Given the description of an element on the screen output the (x, y) to click on. 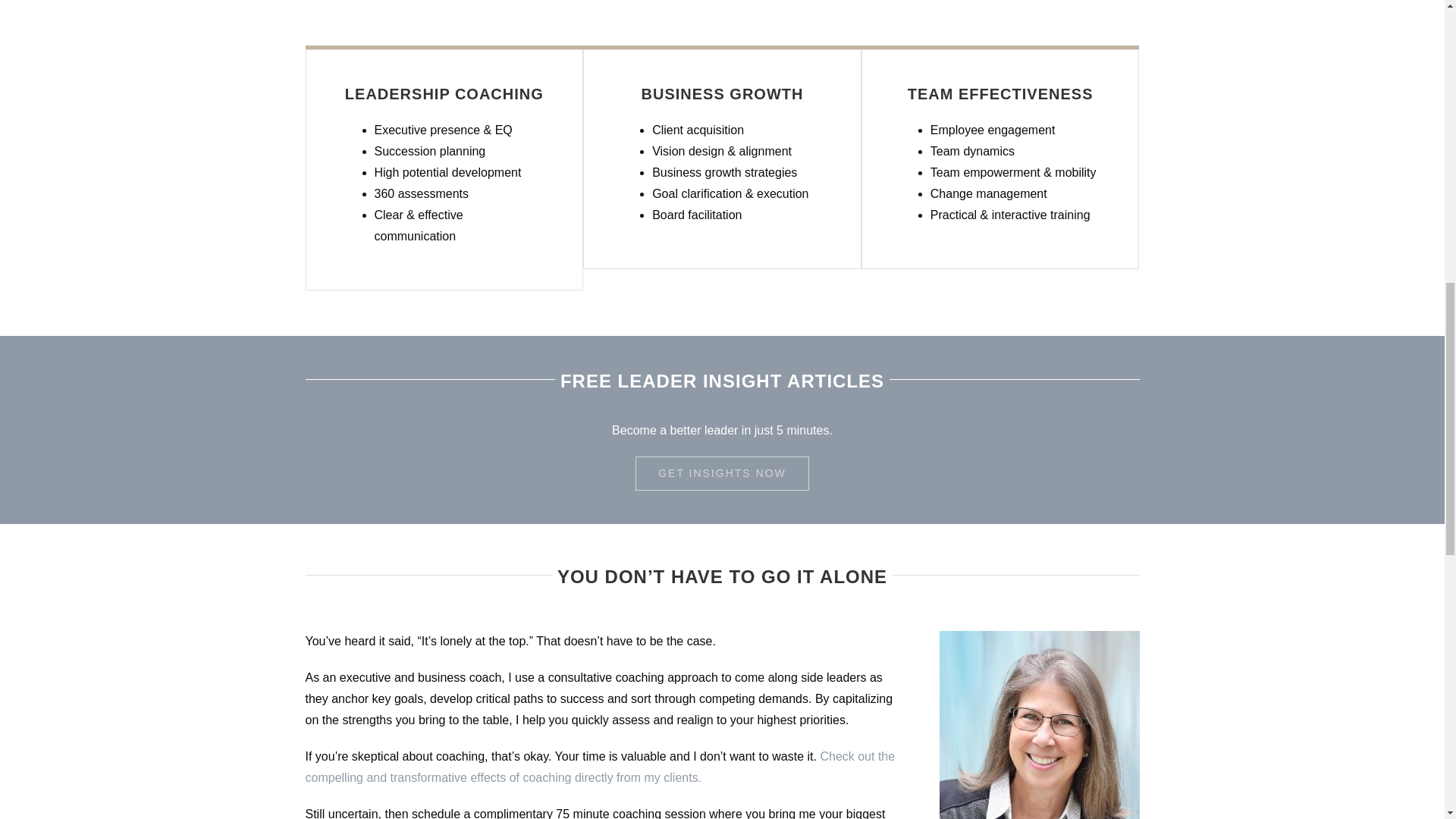
cheryl-scanlan (1038, 724)
GET INSIGHTS NOW (721, 473)
